Given the description of an element on the screen output the (x, y) to click on. 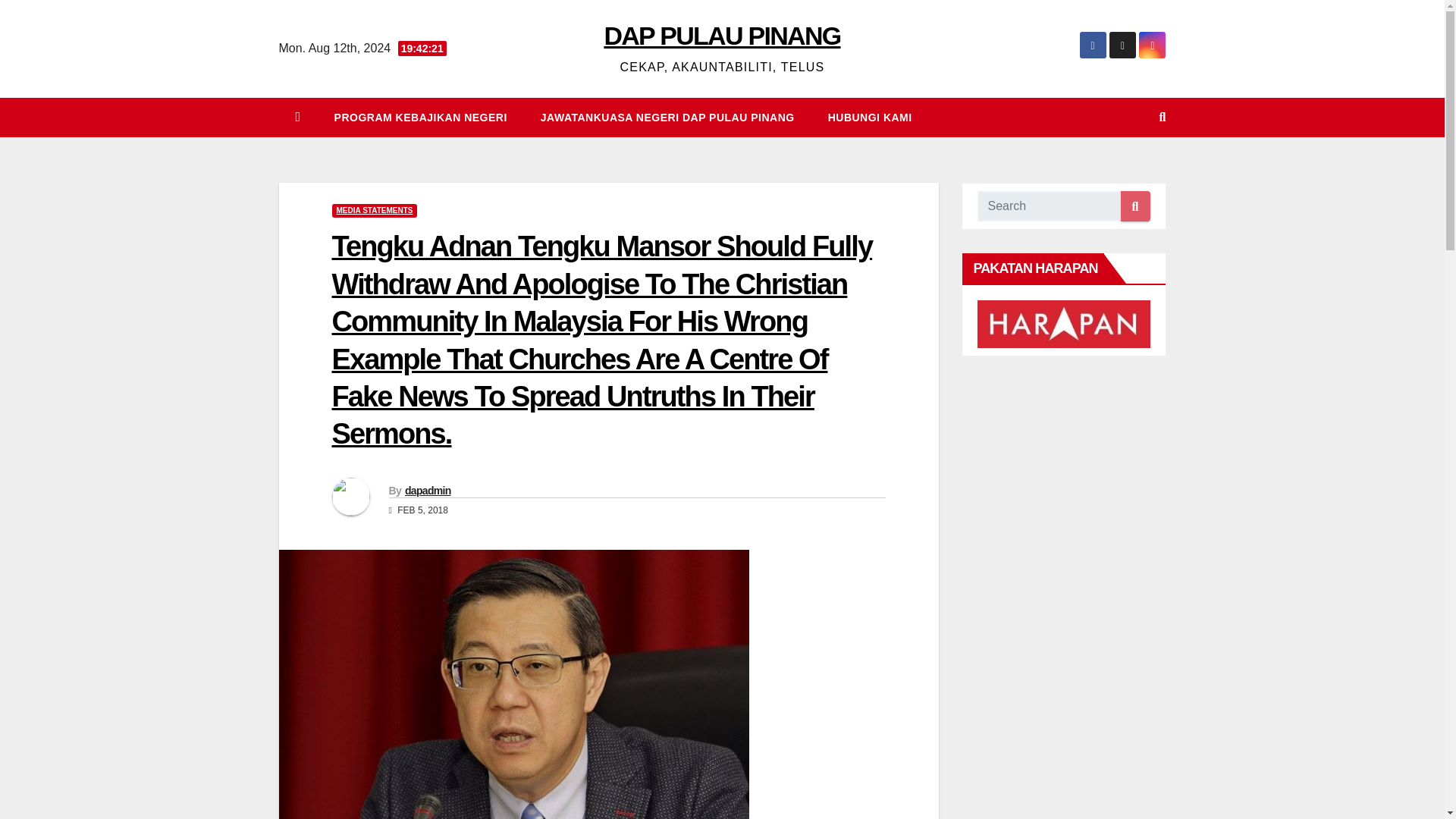
PROGRAM KEBAJIKAN NEGERI (420, 117)
JAWATANKUASA NEGERI DAP PULAU PINANG (667, 117)
MEDIA STATEMENTS (374, 210)
DAP PULAU PINANG (722, 35)
Program Kebajikan Negeri (420, 117)
Hubungi Kami (869, 117)
dapadmin (427, 490)
HUBUNGI KAMI (869, 117)
